Given the description of an element on the screen output the (x, y) to click on. 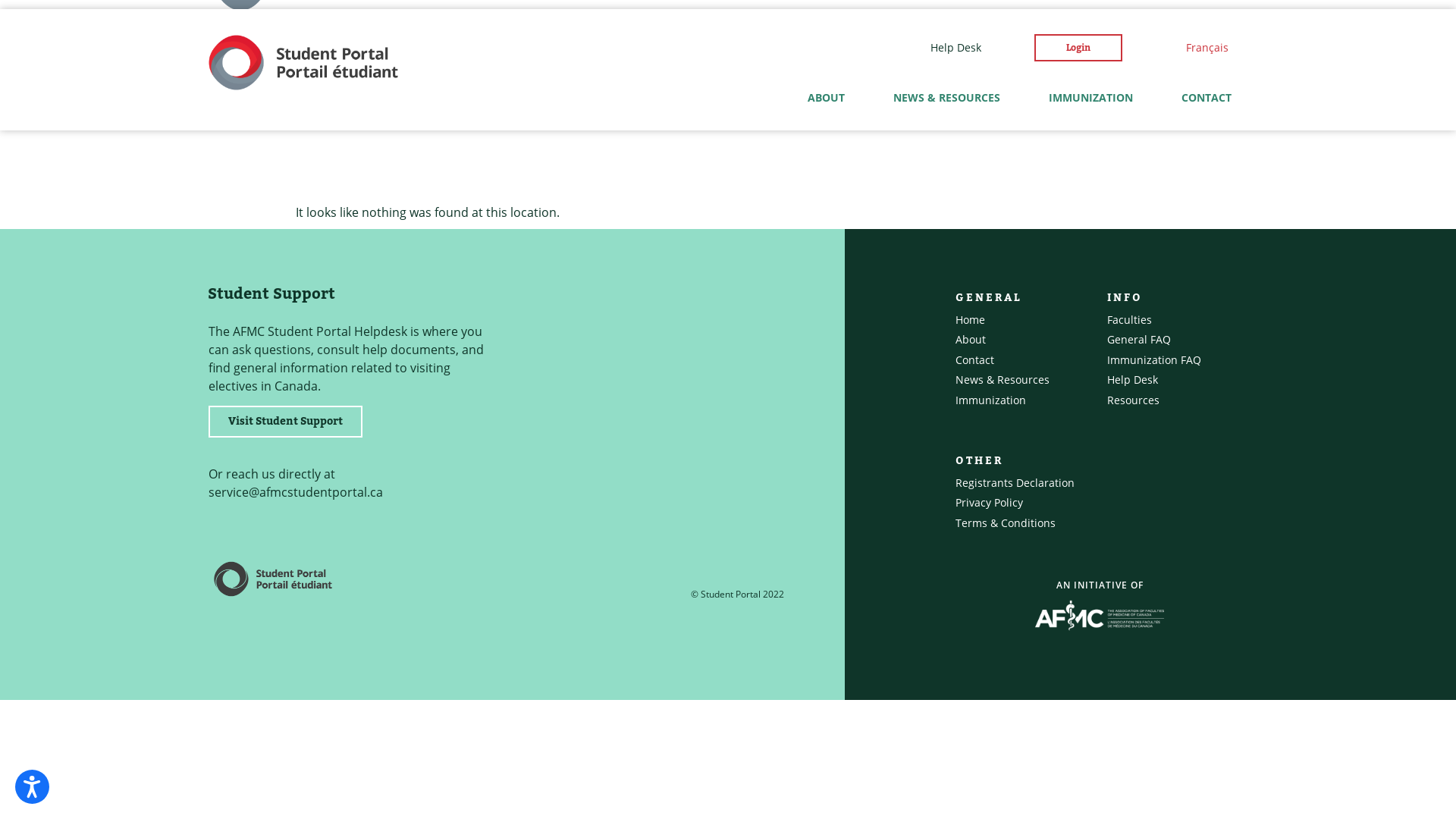
Immunization Element type: text (990, 399)
NEWS & RESOURCES Element type: text (946, 97)
General FAQ Element type: text (1138, 339)
Login Element type: text (1078, 47)
CONTACT Element type: text (1206, 97)
Privacy Policy Element type: text (988, 502)
News & Resources Element type: text (1002, 379)
Resources Element type: text (1133, 399)
Registrants Declaration Element type: text (1014, 482)
Contact Element type: text (974, 359)
ABOUT Element type: text (826, 97)
Terms & Conditions Element type: text (1005, 522)
Home Element type: text (970, 319)
service@afmcstudentportal.ca Element type: text (295, 491)
Immunization FAQ Element type: text (1154, 359)
About Element type: text (970, 339)
Visit Student Support Element type: text (285, 421)
Help Desk Element type: text (955, 47)
Faculties Element type: text (1129, 319)
Help Desk Element type: text (1132, 379)
IMMUNIZATION Element type: text (1090, 97)
